Given the description of an element on the screen output the (x, y) to click on. 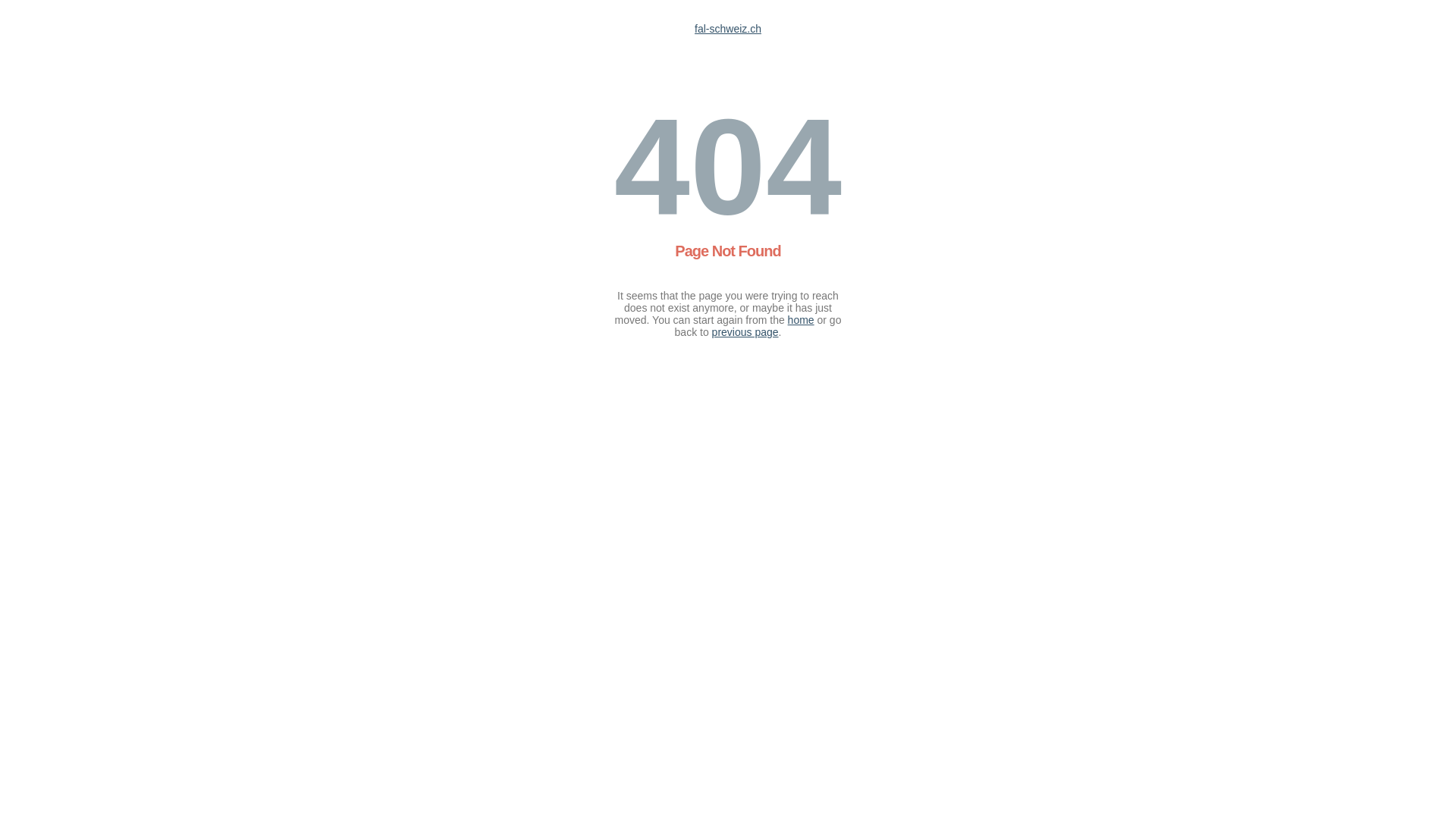
previous page Element type: text (745, 332)
home Element type: text (800, 319)
fal-schweiz.ch Element type: text (727, 28)
